Given the description of an element on the screen output the (x, y) to click on. 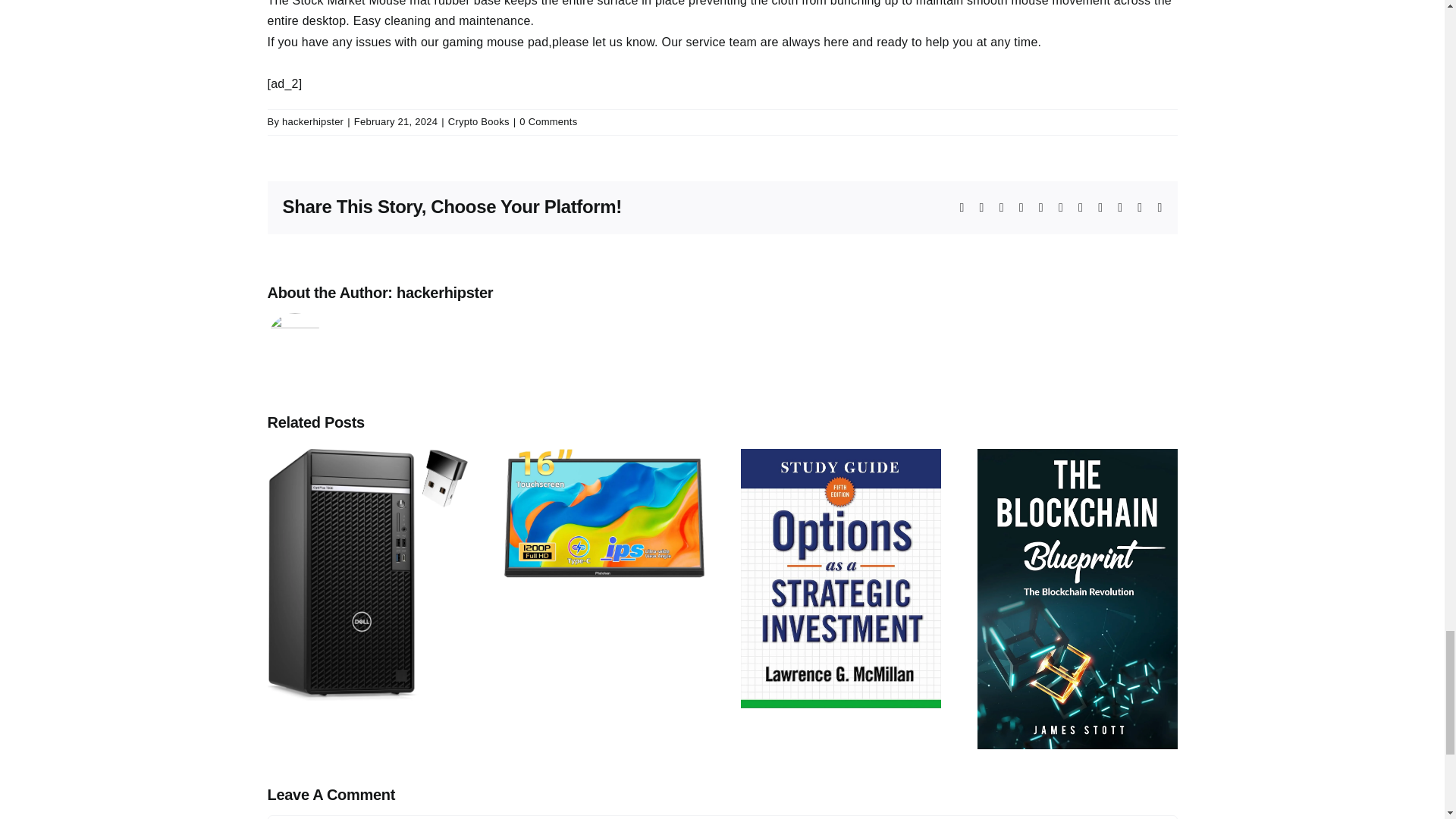
0 Comments (547, 121)
Posts by hackerhipster (312, 121)
hackerhipster (444, 292)
Crypto Books (478, 121)
hackerhipster (312, 121)
